Given the description of an element on the screen output the (x, y) to click on. 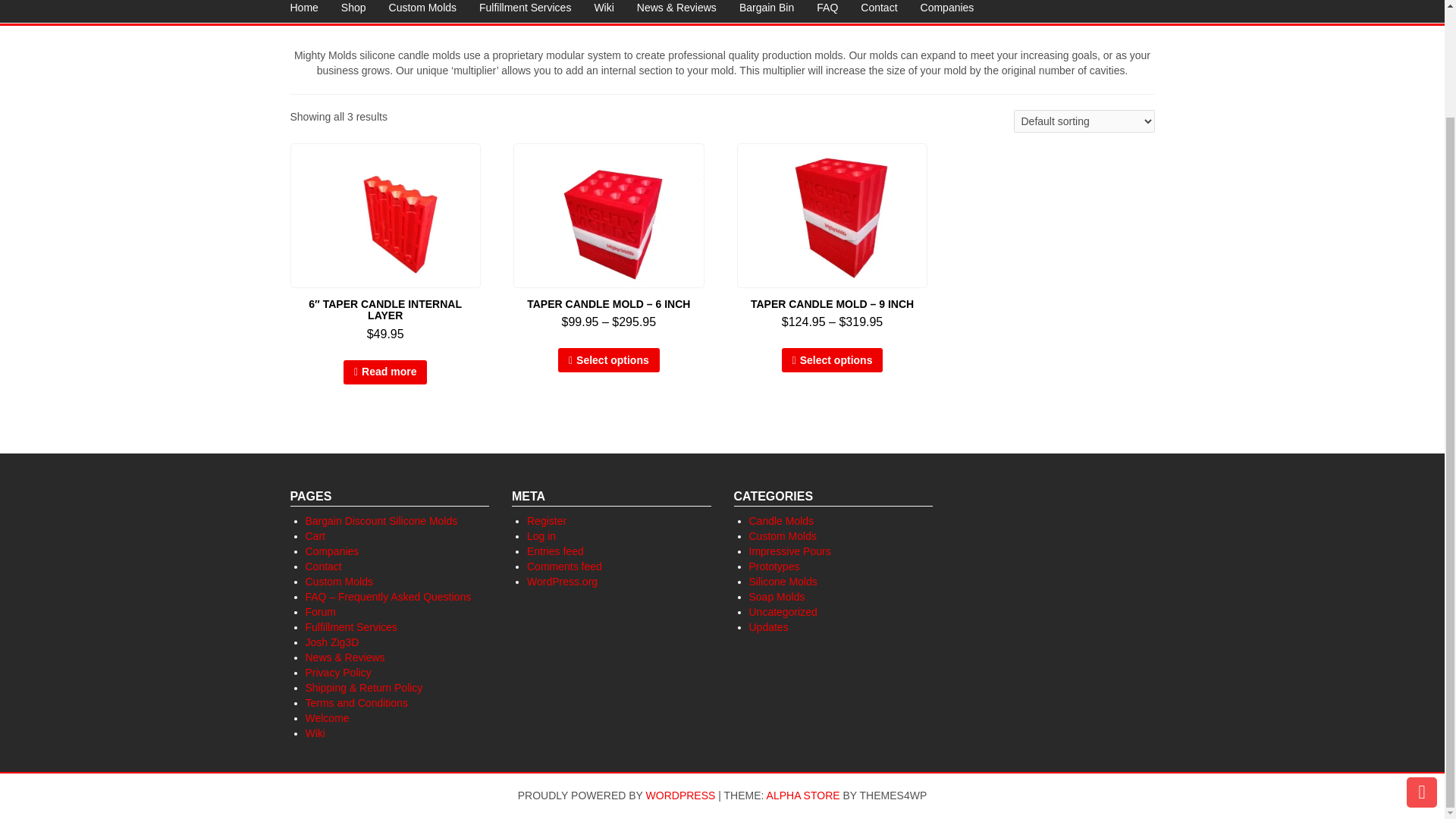
FAQ (826, 11)
Home (304, 11)
Contact (878, 11)
Companies (946, 11)
Read more (384, 372)
Custom Molds (422, 11)
Fulfillment Services (524, 11)
Wiki (603, 11)
Bargain Bin (766, 11)
Shop (353, 11)
Bargain Discount Silicone Molds (380, 521)
Wiki (603, 11)
FAQ (826, 11)
Select options (608, 360)
Bargain Bin (766, 11)
